Given the description of an element on the screen output the (x, y) to click on. 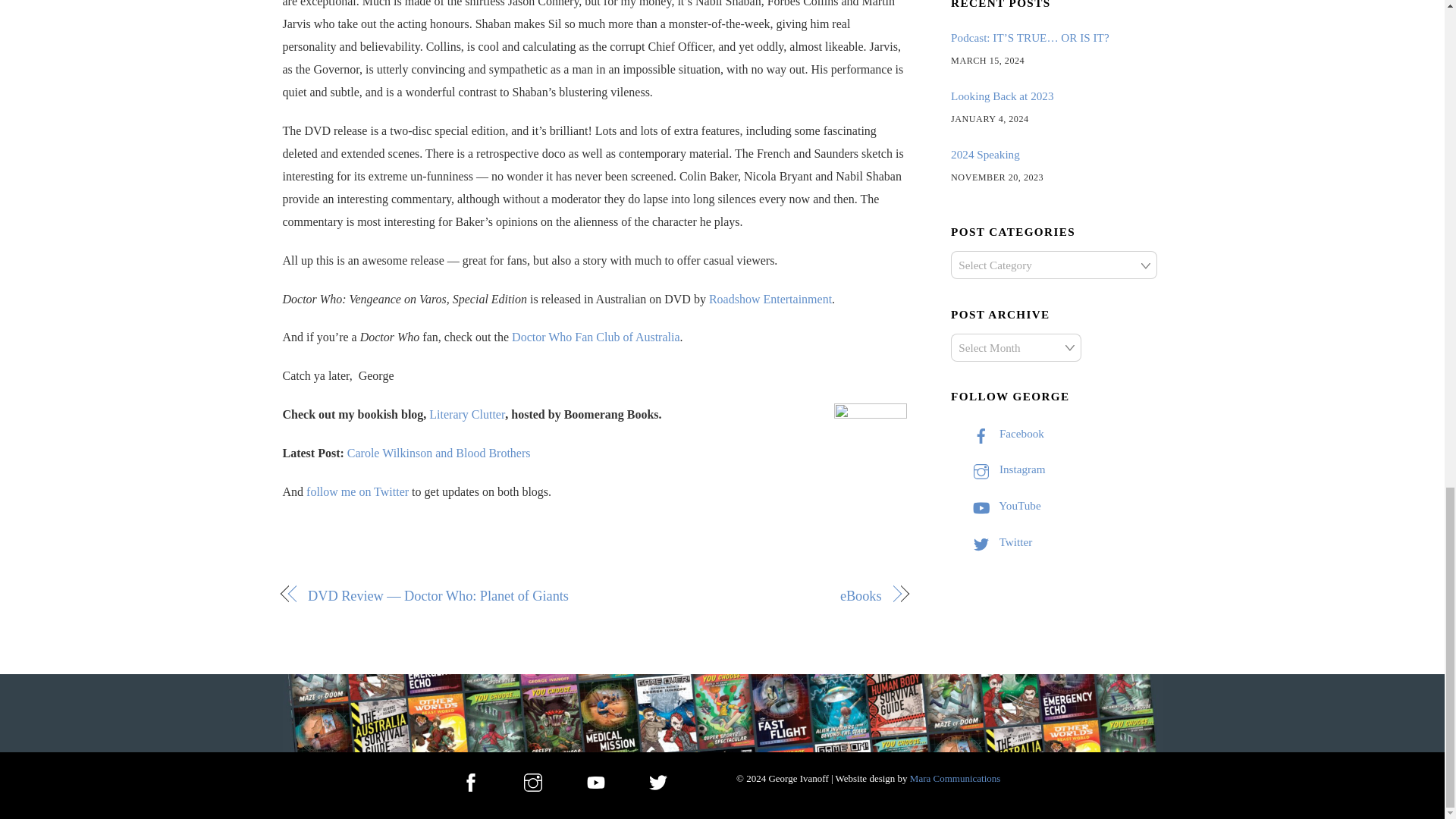
eBooks (746, 595)
Roadshow Entertainment (770, 298)
follow me on Twitter (357, 491)
Literary Clutter (467, 413)
Doctor Who Fan Club of Australia (595, 336)
Carole Wilkinson and Blood Brothers (439, 452)
